Given the description of an element on the screen output the (x, y) to click on. 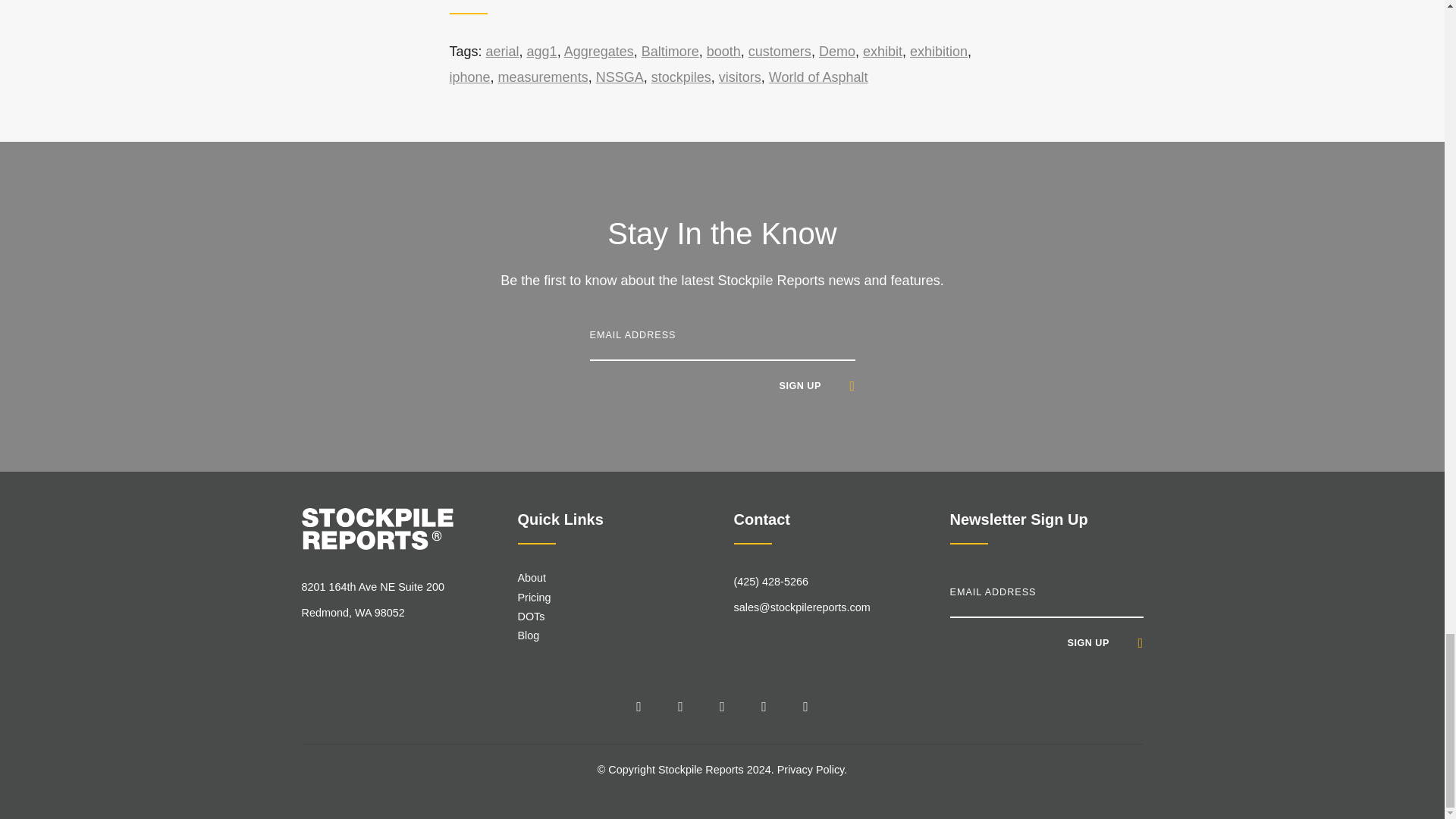
exhibition (939, 51)
booth (723, 51)
iphone (468, 77)
Demo (837, 51)
measurements (542, 77)
NSSGA (619, 77)
visitors (740, 77)
Baltimore (670, 51)
agg1 (542, 51)
exhibit (882, 51)
aerial (502, 51)
stockpiles (680, 77)
Aggregates (598, 51)
customers (779, 51)
